Given the description of an element on the screen output the (x, y) to click on. 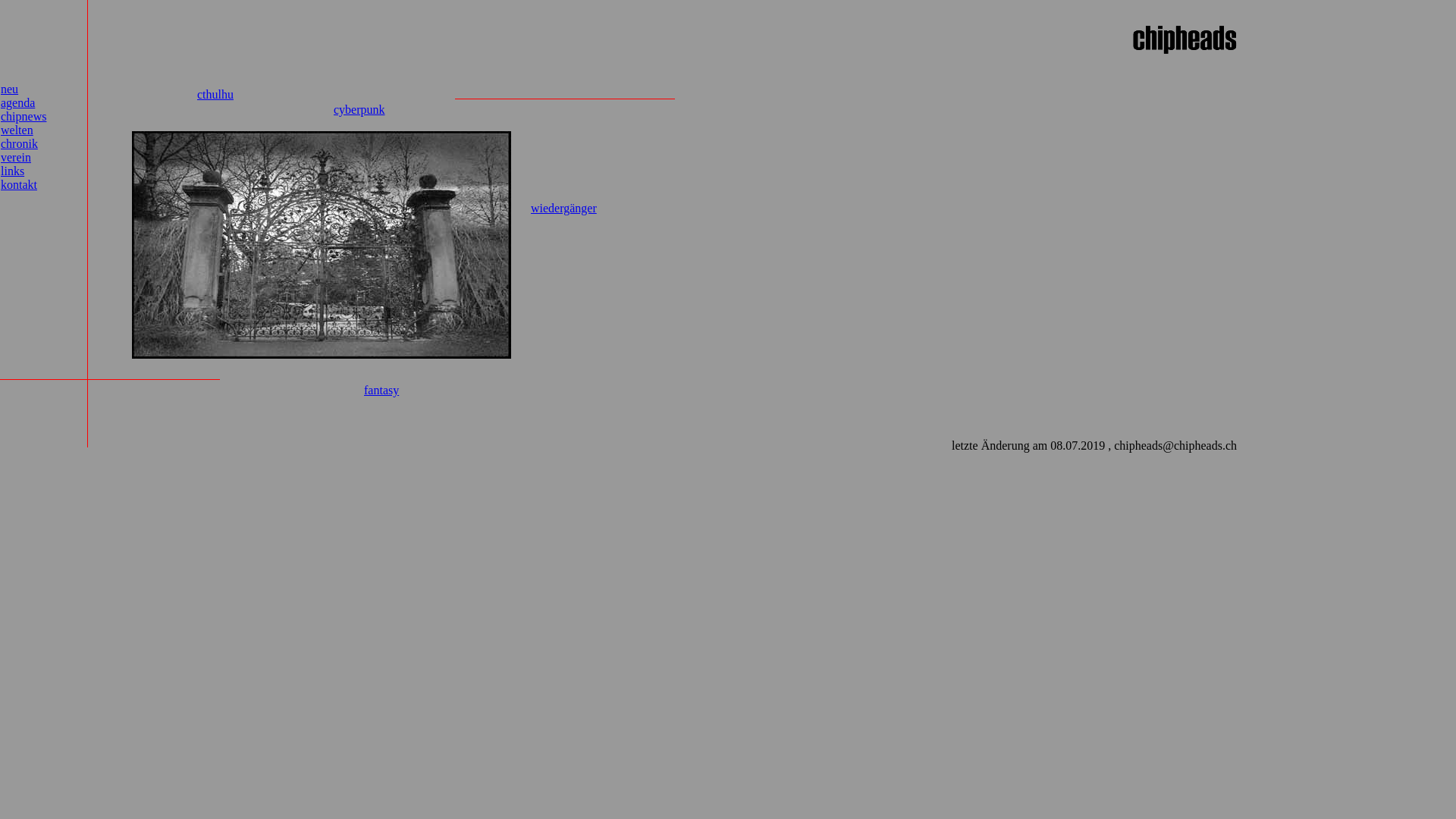
fantasy Element type: text (381, 389)
chronik Element type: text (18, 143)
kontakt Element type: text (18, 184)
links Element type: text (12, 170)
welten Element type: text (16, 129)
neu Element type: text (9, 88)
cyberpunk Element type: text (359, 109)
chipnews Element type: text (23, 115)
agenda Element type: text (17, 102)
verein Element type: text (15, 156)
cthulhu Element type: text (215, 93)
